Given the description of an element on the screen output the (x, y) to click on. 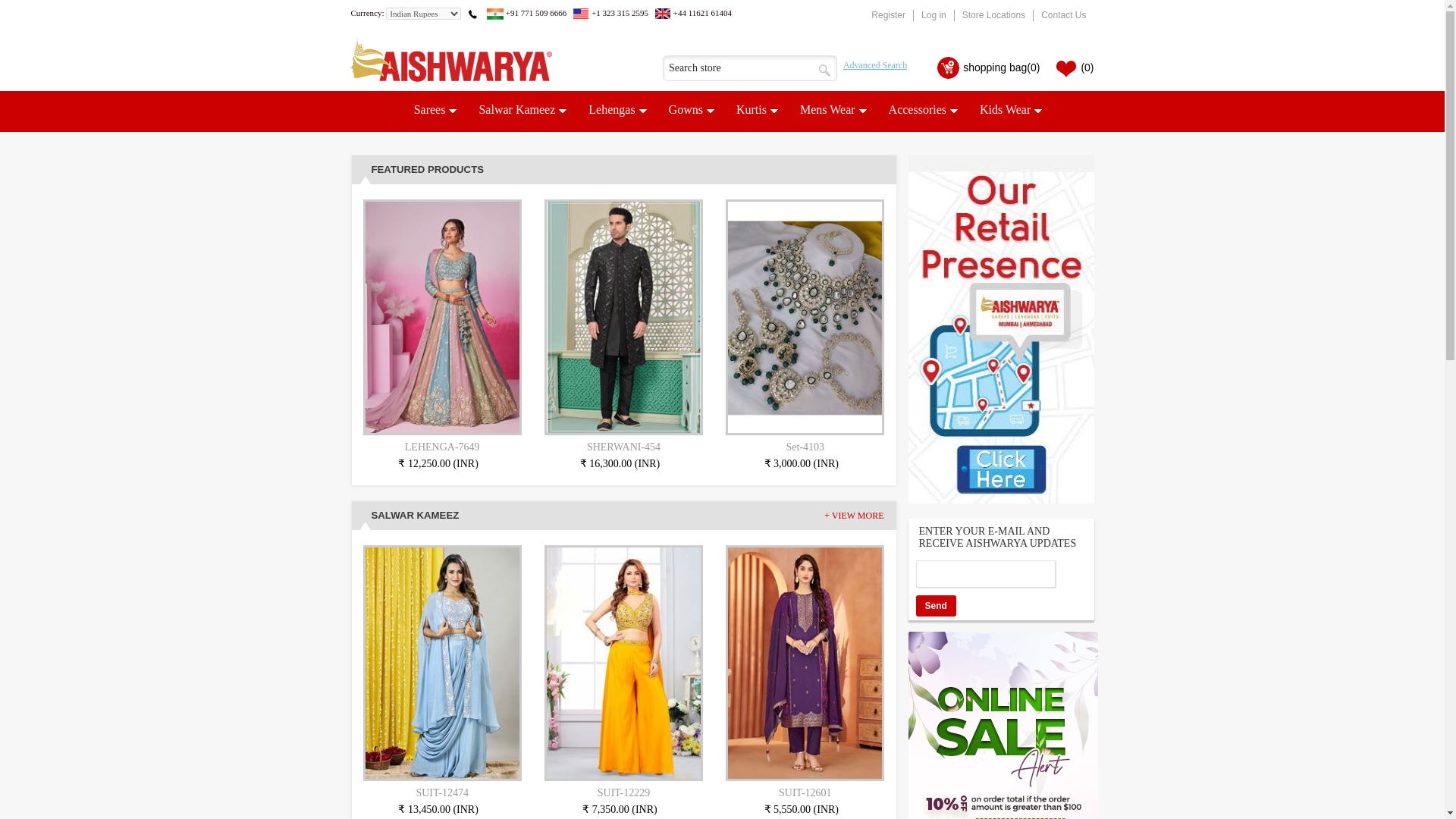
Contact Us (1063, 15)
Search store (749, 68)
advanced search (872, 63)
Log in (933, 15)
Store Locations (993, 15)
advanced search (872, 63)
